Given the description of an element on the screen output the (x, y) to click on. 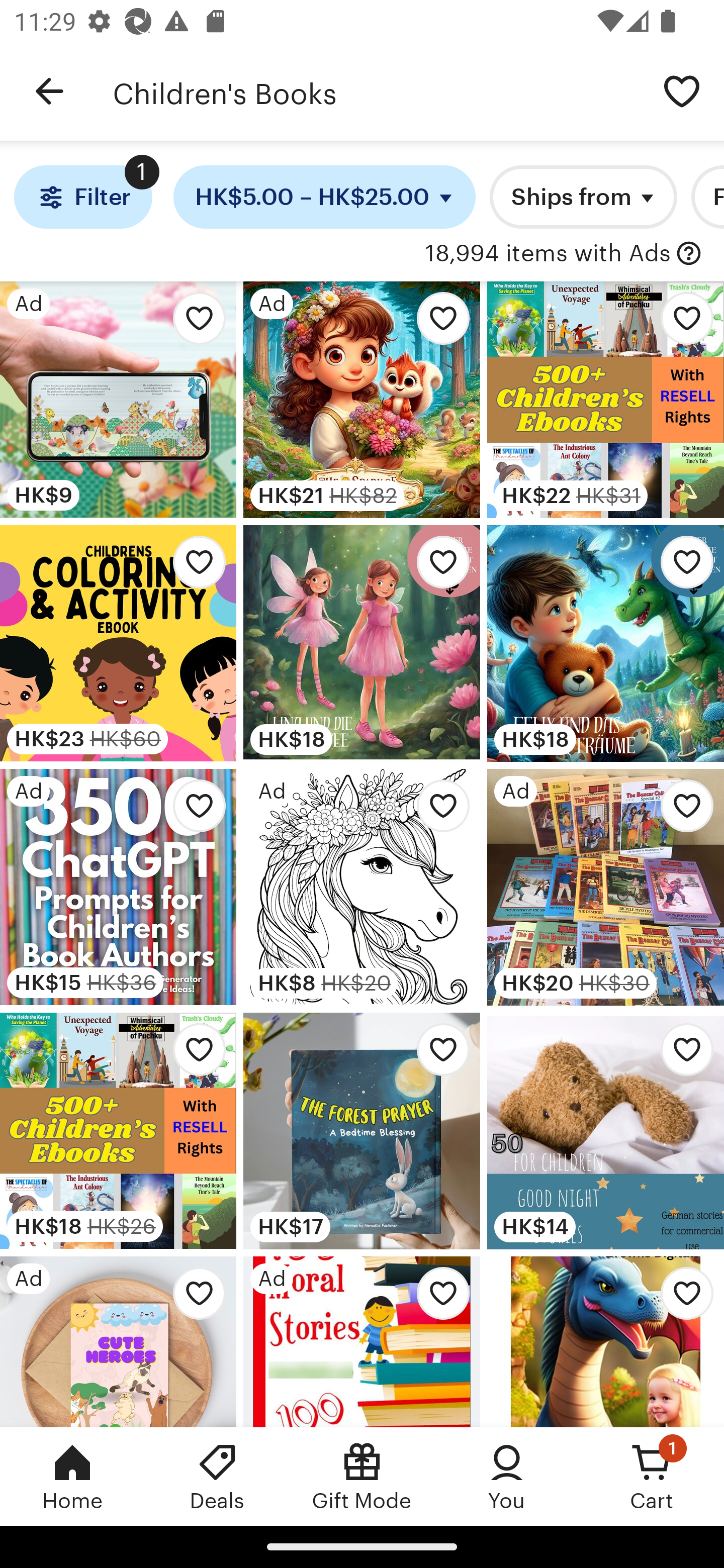
Navigate up (49, 91)
Save search (681, 90)
Children's Books (375, 91)
Filter (82, 197)
HK$5.00 – HK$25.00 (324, 197)
Ships from (582, 197)
18,994 items with Ads (548, 253)
with Ads (688, 253)
Deals (216, 1475)
Gift Mode (361, 1475)
You (506, 1475)
Cart, 1 new notification Cart (651, 1475)
